Given the description of an element on the screen output the (x, y) to click on. 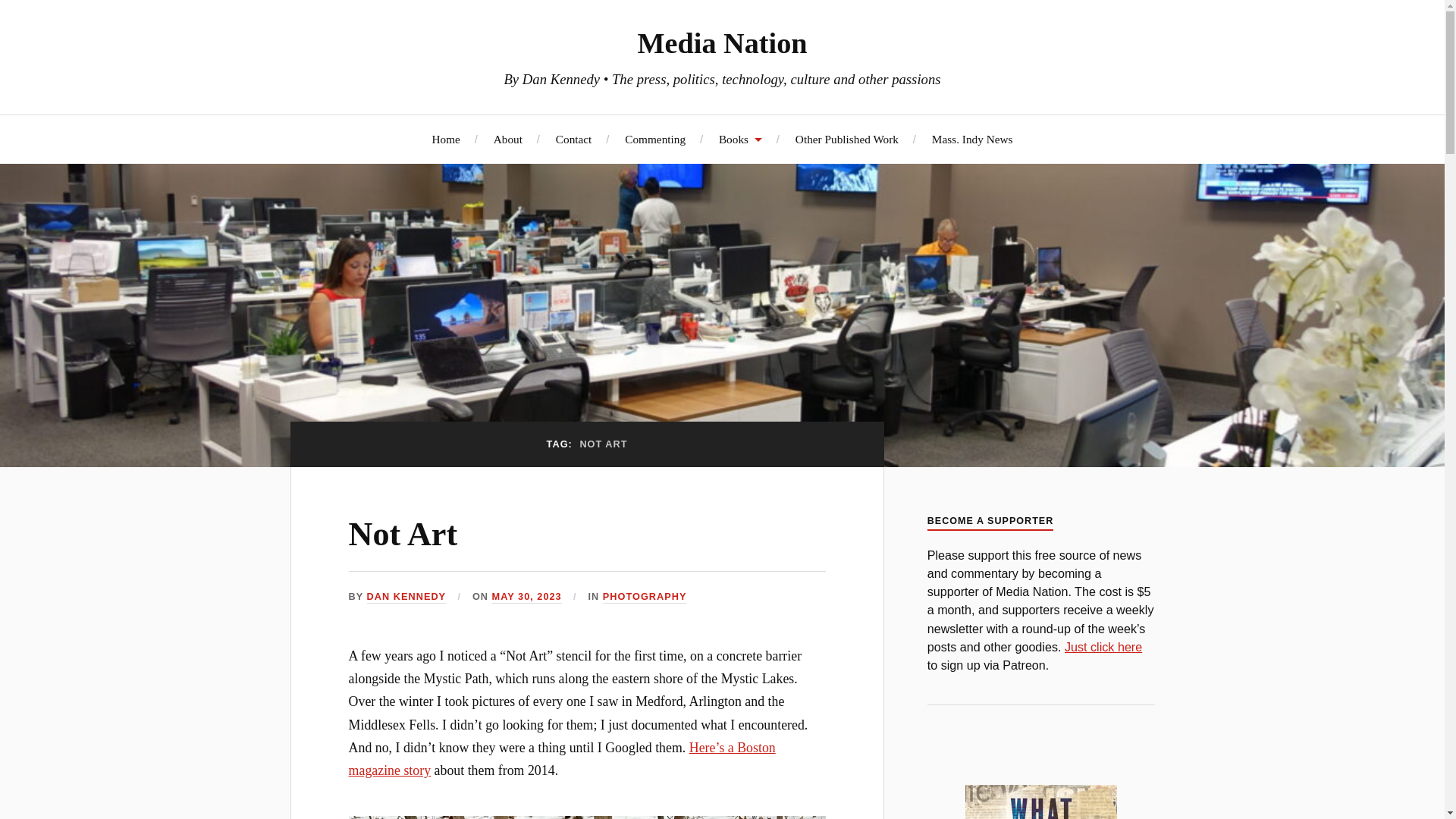
Books (740, 138)
MAY 30, 2023 (527, 596)
Posts by Dan Kennedy (406, 596)
Commenting (654, 138)
DAN KENNEDY (406, 596)
Not Art (403, 533)
PHOTOGRAPHY (644, 596)
Other Published Work (846, 138)
Media Nation (721, 42)
Mass. Indy News (972, 138)
